Given the description of an element on the screen output the (x, y) to click on. 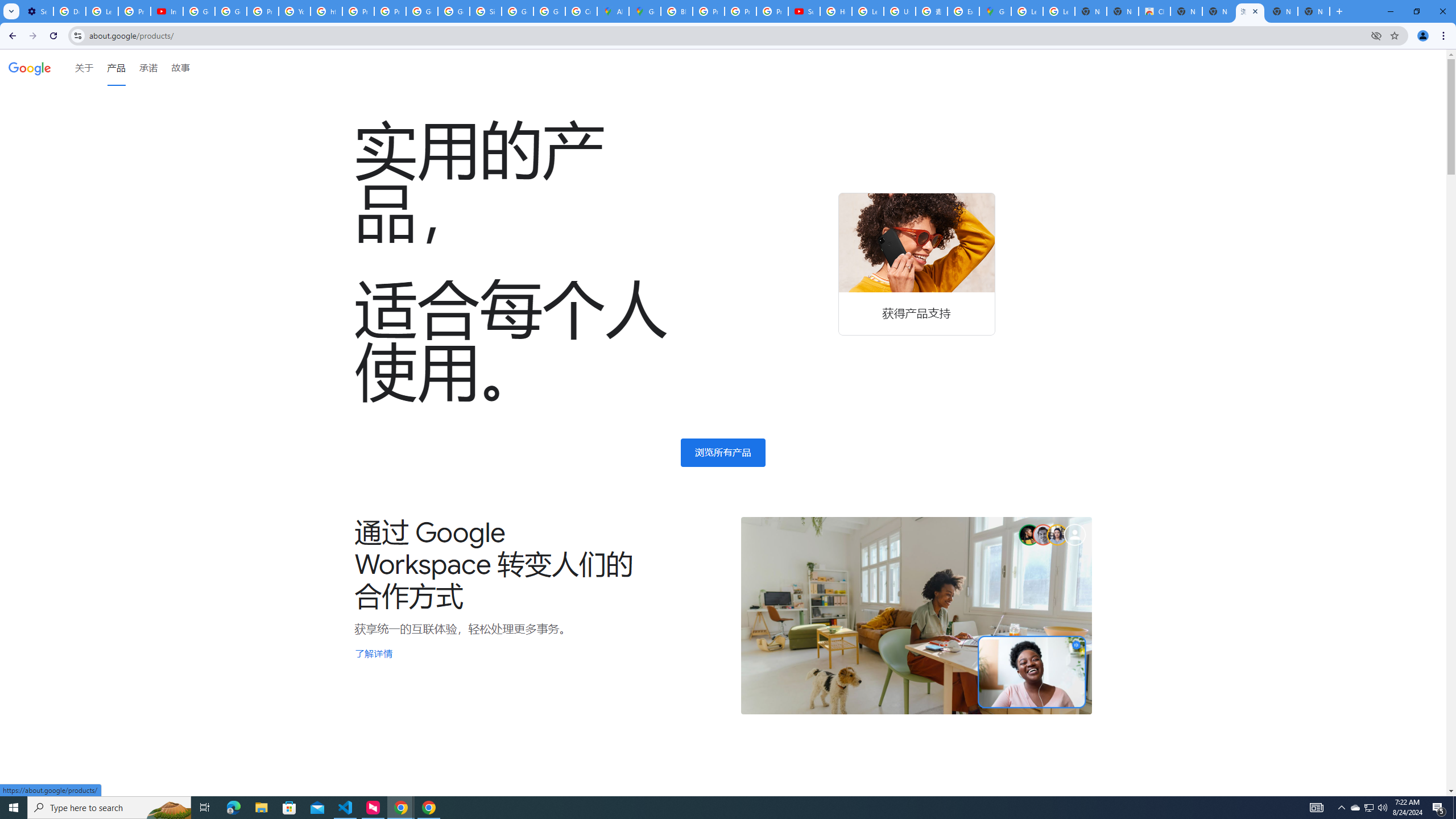
Google Account Help (198, 11)
Google Maps (995, 11)
YouTube (294, 11)
Sign in - Google Accounts (485, 11)
Privacy Help Center - Policies Help (740, 11)
